Given the description of an element on the screen output the (x, y) to click on. 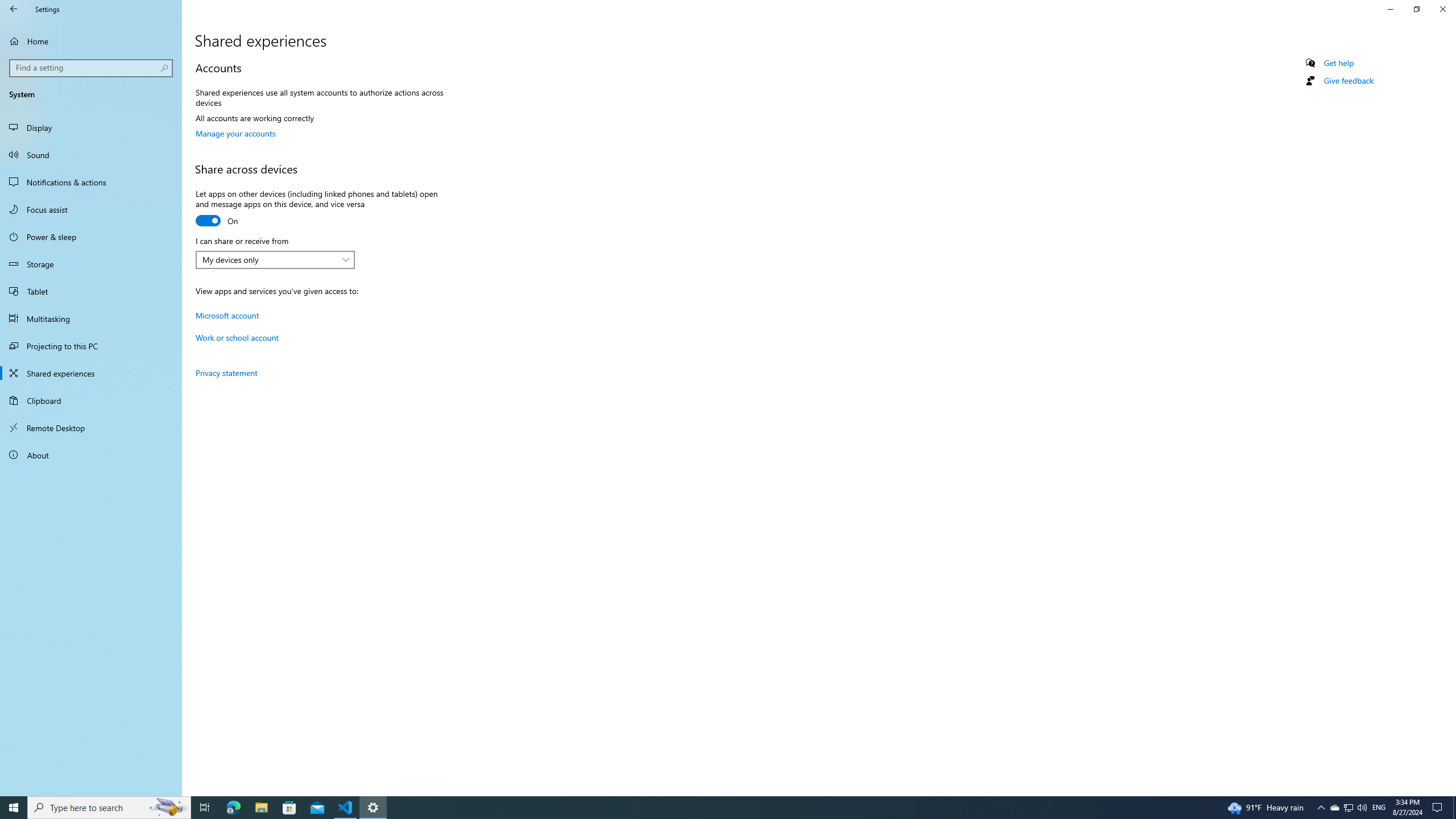
Q2790: 100% (1361, 807)
Display (91, 126)
Notifications & actions (91, 181)
Remote Desktop (91, 427)
